Given the description of an element on the screen output the (x, y) to click on. 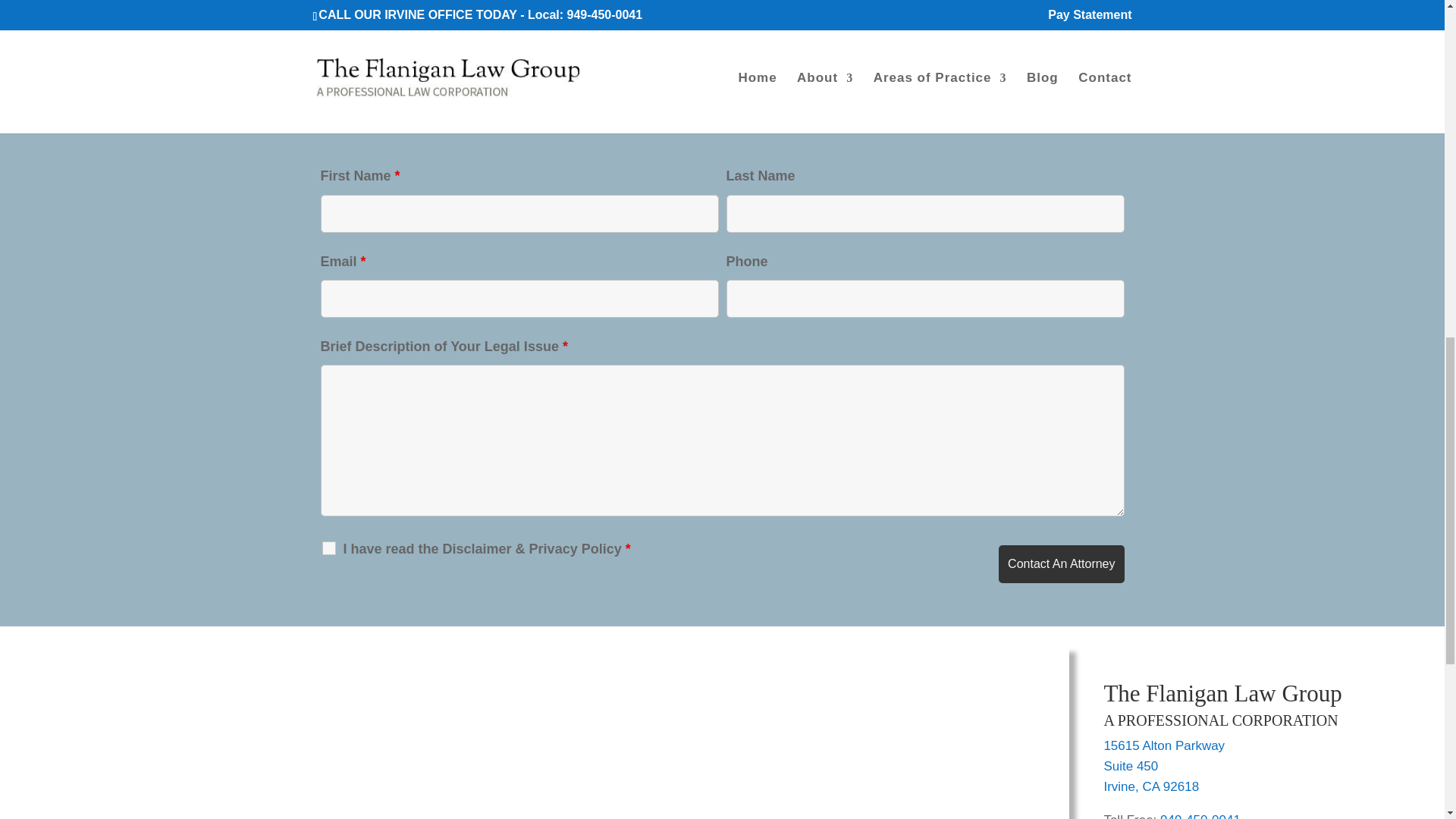
Suite 450 (1130, 766)
15615 Alton Parkway (1163, 745)
Touch to Dial (1200, 816)
Open in Google Maps (1130, 766)
949-450-0041 (1200, 816)
Open in Google Maps (1163, 745)
Contact An Attorney (1061, 564)
Open in Google Maps (1150, 786)
Contact An Attorney (1061, 564)
Irvine, CA 92618 (1150, 786)
